Given the description of an element on the screen output the (x, y) to click on. 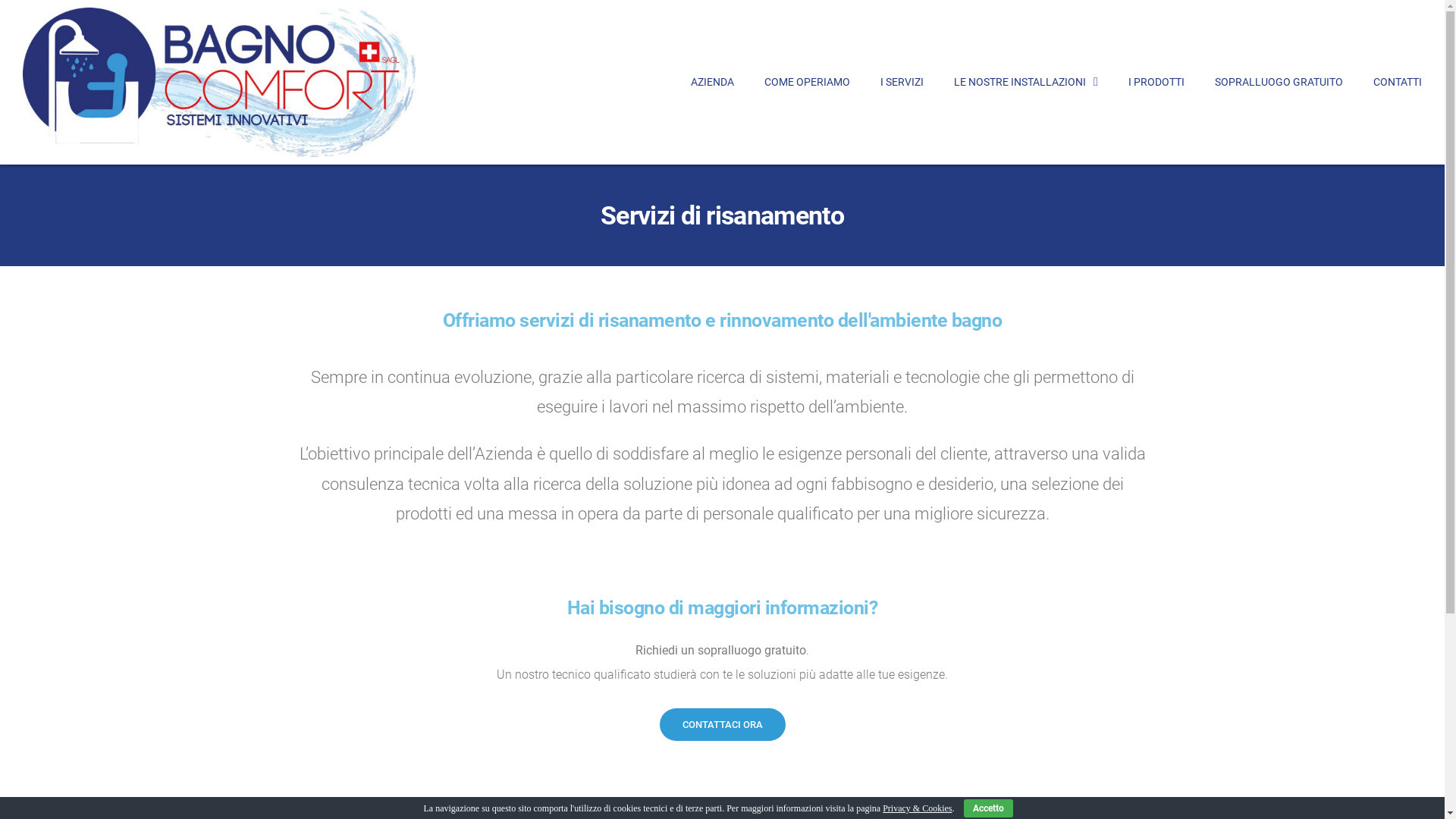
LE NOSTRE INSTALLAZIONI Element type: text (1025, 81)
CONTATTI Element type: text (1397, 81)
SOPRALLUOGO GRATUITO Element type: text (1278, 81)
I SERVIZI Element type: text (901, 81)
Privacy & Cookies Element type: text (916, 808)
COME OPERIAMO Element type: text (807, 81)
I PRODOTTI Element type: text (1156, 81)
AZIENDA Element type: text (712, 81)
CONTATTACI ORA Element type: text (722, 724)
Accetto Element type: text (988, 808)
